Given the description of an element on the screen output the (x, y) to click on. 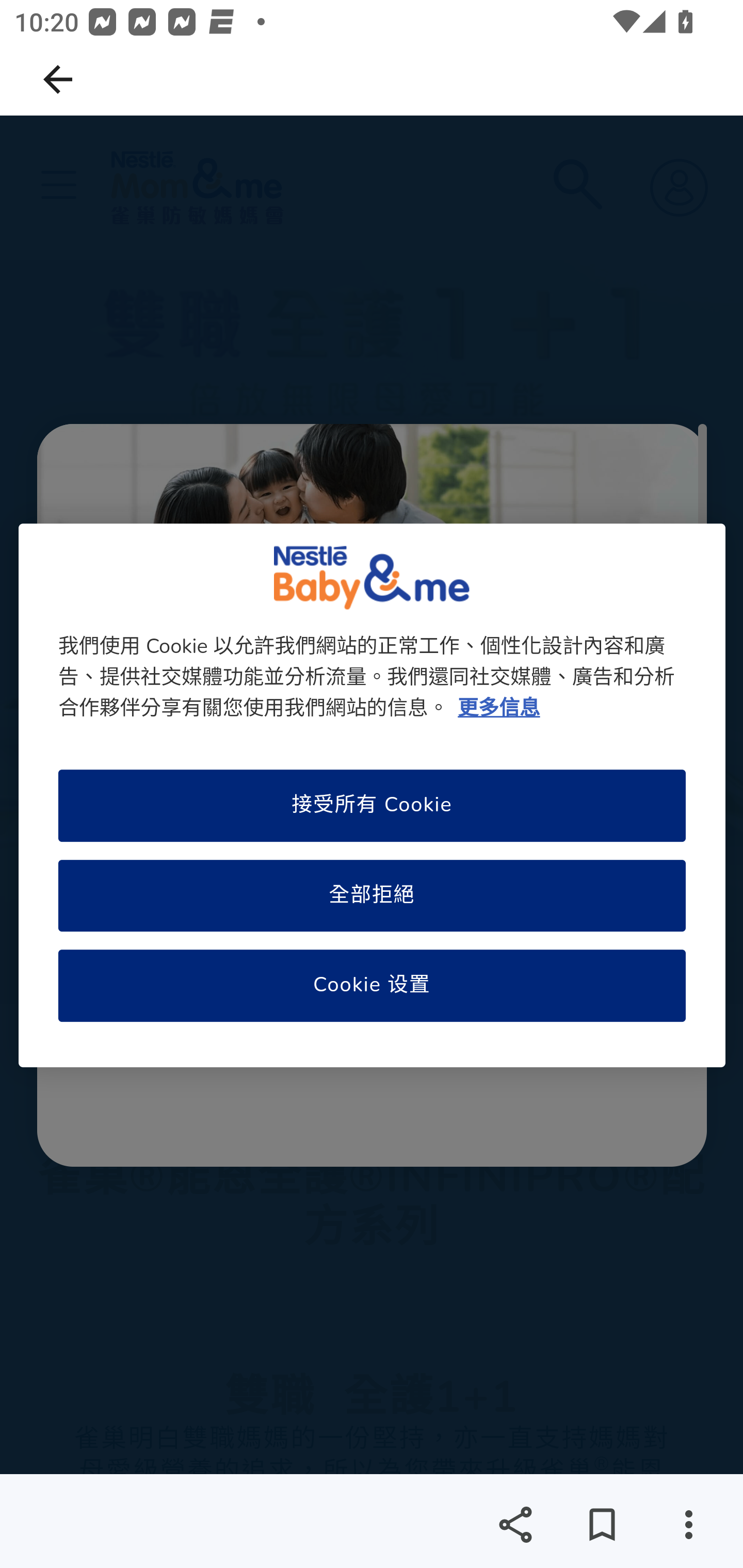
Navigate up (57, 79)
接受所有 Cookie (371, 805)
全部拒絕 (371, 895)
Cookie 设置 (371, 986)
Share (514, 1524)
Save for later (601, 1524)
More options (688, 1524)
